Given the description of an element on the screen output the (x, y) to click on. 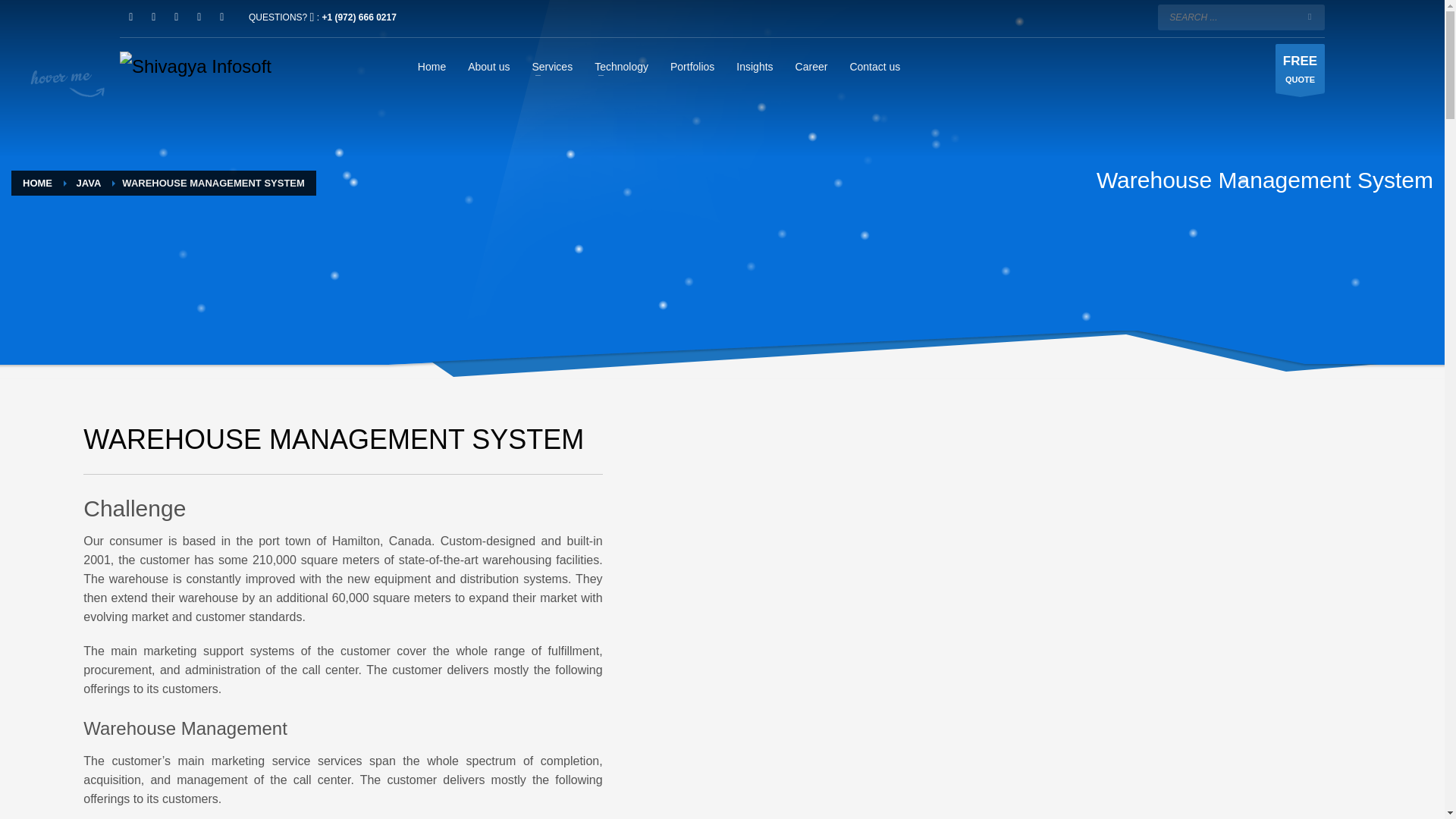
go (1309, 16)
Facebook (130, 16)
Twitter (176, 16)
Home (431, 66)
Technology (621, 66)
Instagram (153, 16)
Linkedin (199, 16)
About us (488, 66)
Google (221, 16)
Services (551, 66)
